Given the description of an element on the screen output the (x, y) to click on. 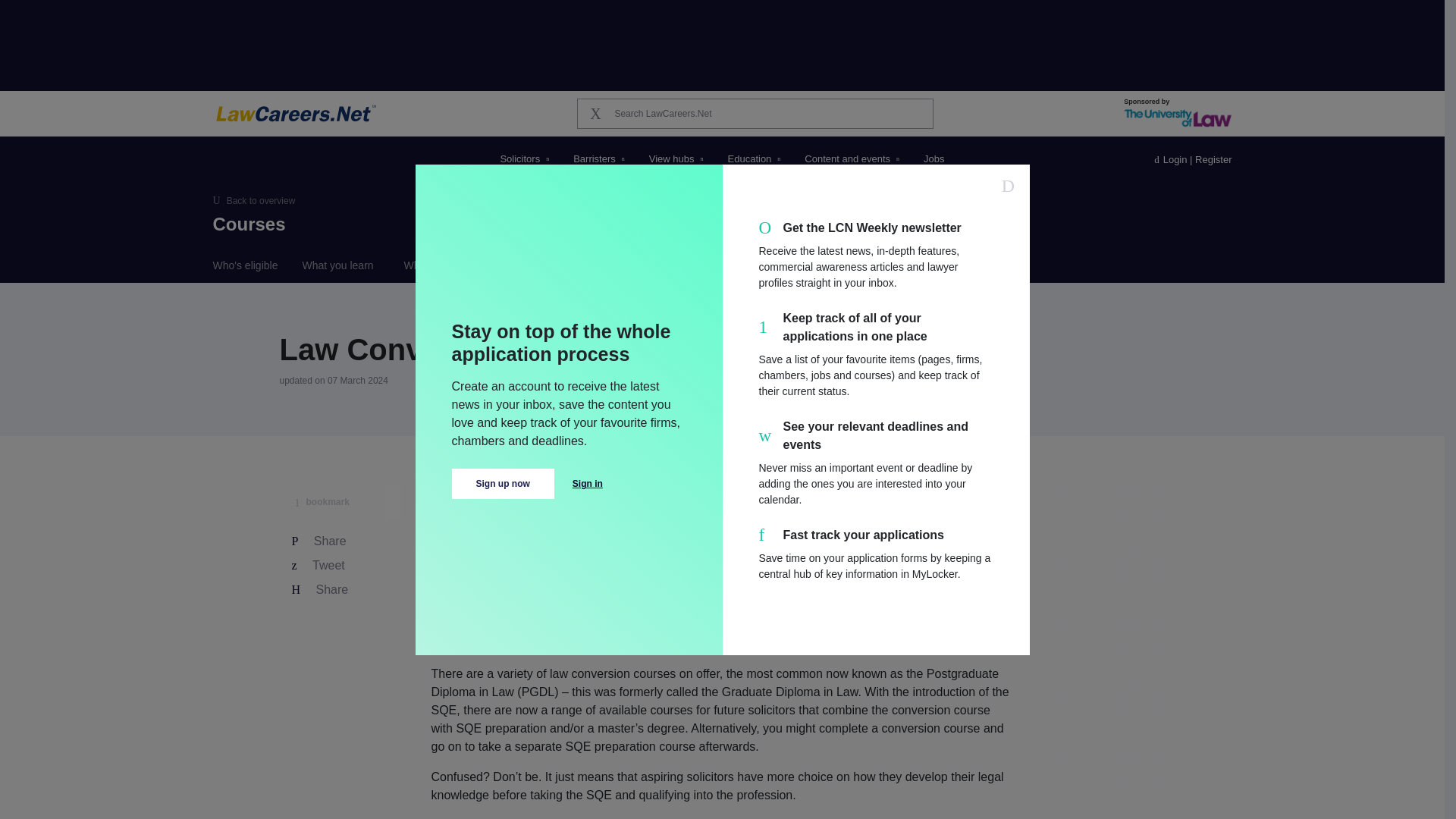
Jobs (933, 158)
Share this article on Facebook (339, 541)
3rd party ad content (721, 44)
LawCareers.Net (299, 113)
Share this article on LinkedIn (339, 589)
Share this article on Twitter (339, 565)
Sponsored by (1177, 111)
